Given the description of an element on the screen output the (x, y) to click on. 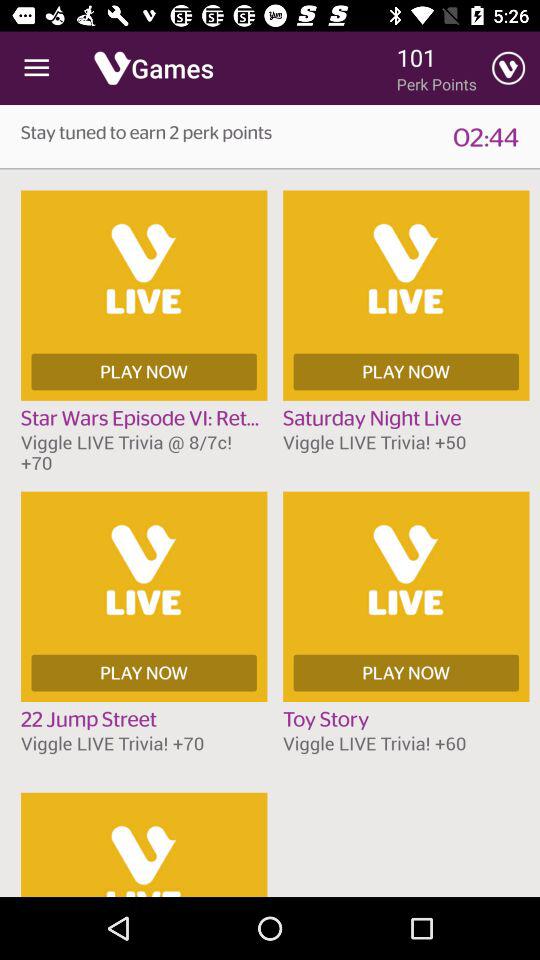
choose icon above the 02:44 item (508, 67)
